Given the description of an element on the screen output the (x, y) to click on. 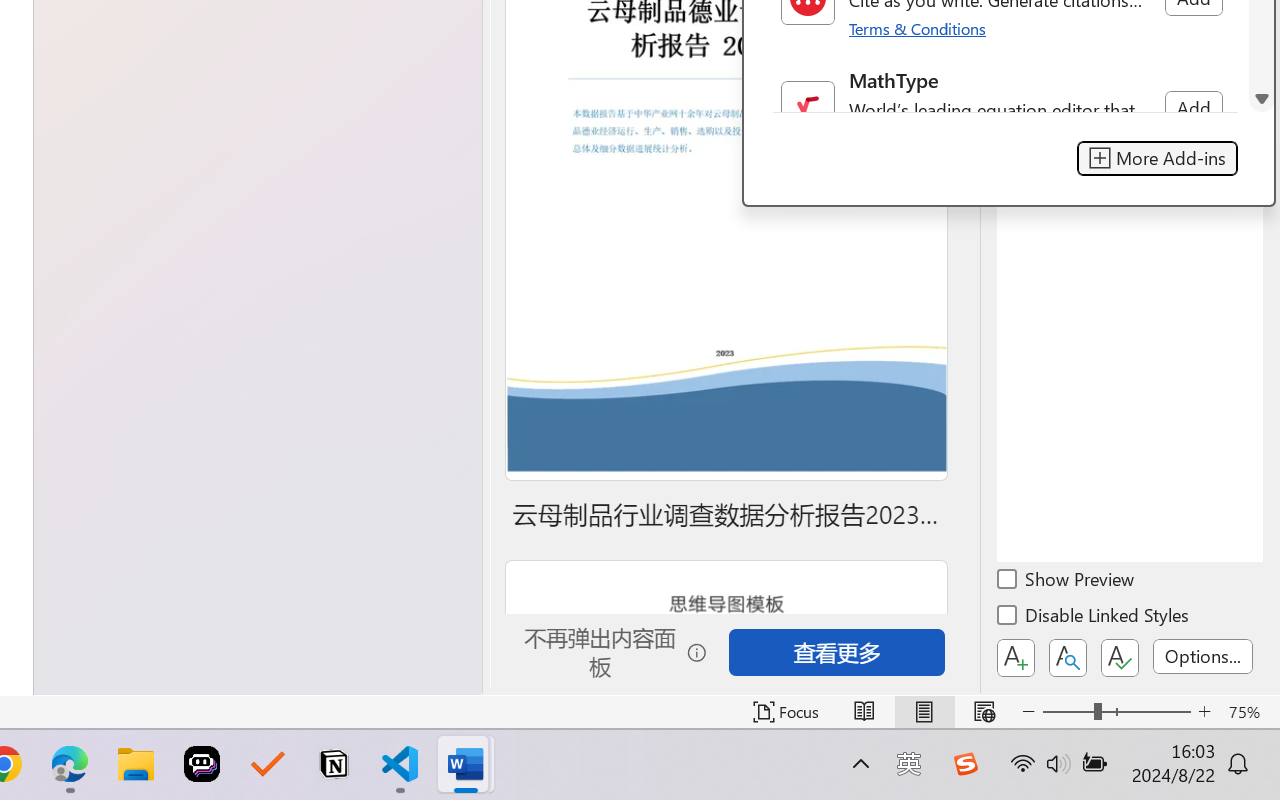
Print Layout (924, 712)
Class: NetUIImage (807, 107)
Terms & Conditions (918, 28)
More Add-ins (1156, 158)
